Given the description of an element on the screen output the (x, y) to click on. 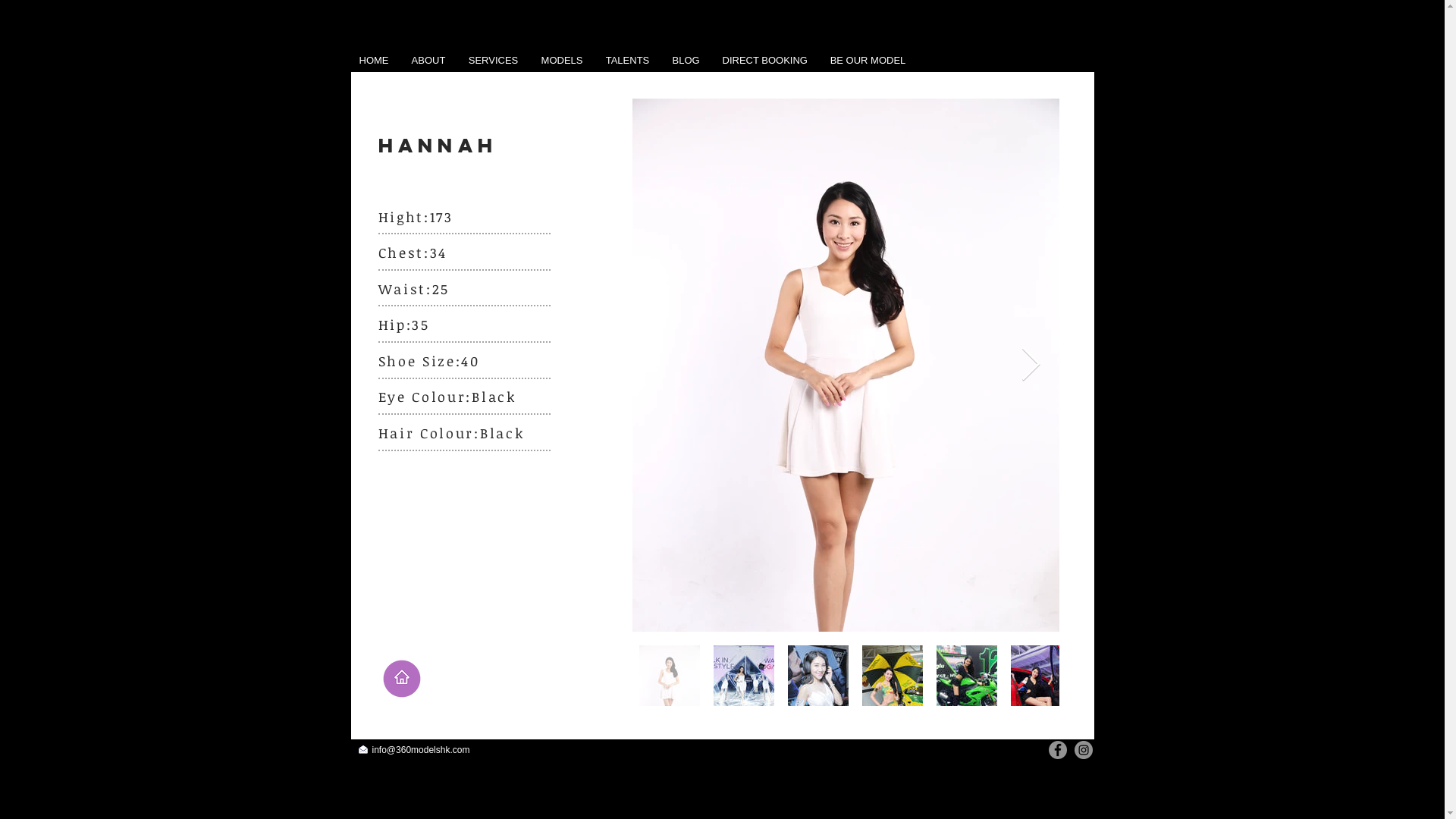
BE OUR MODEL Element type: text (868, 60)
BLOG Element type: text (686, 60)
MODELS Element type: text (561, 60)
HOME Element type: text (373, 60)
TALENTS Element type: text (627, 60)
SERVICES Element type: text (492, 60)
DIRECT BOOKING Element type: text (765, 60)
ABOUT Element type: text (428, 60)
info@360modelshk.com Element type: text (420, 749)
